Given the description of an element on the screen output the (x, y) to click on. 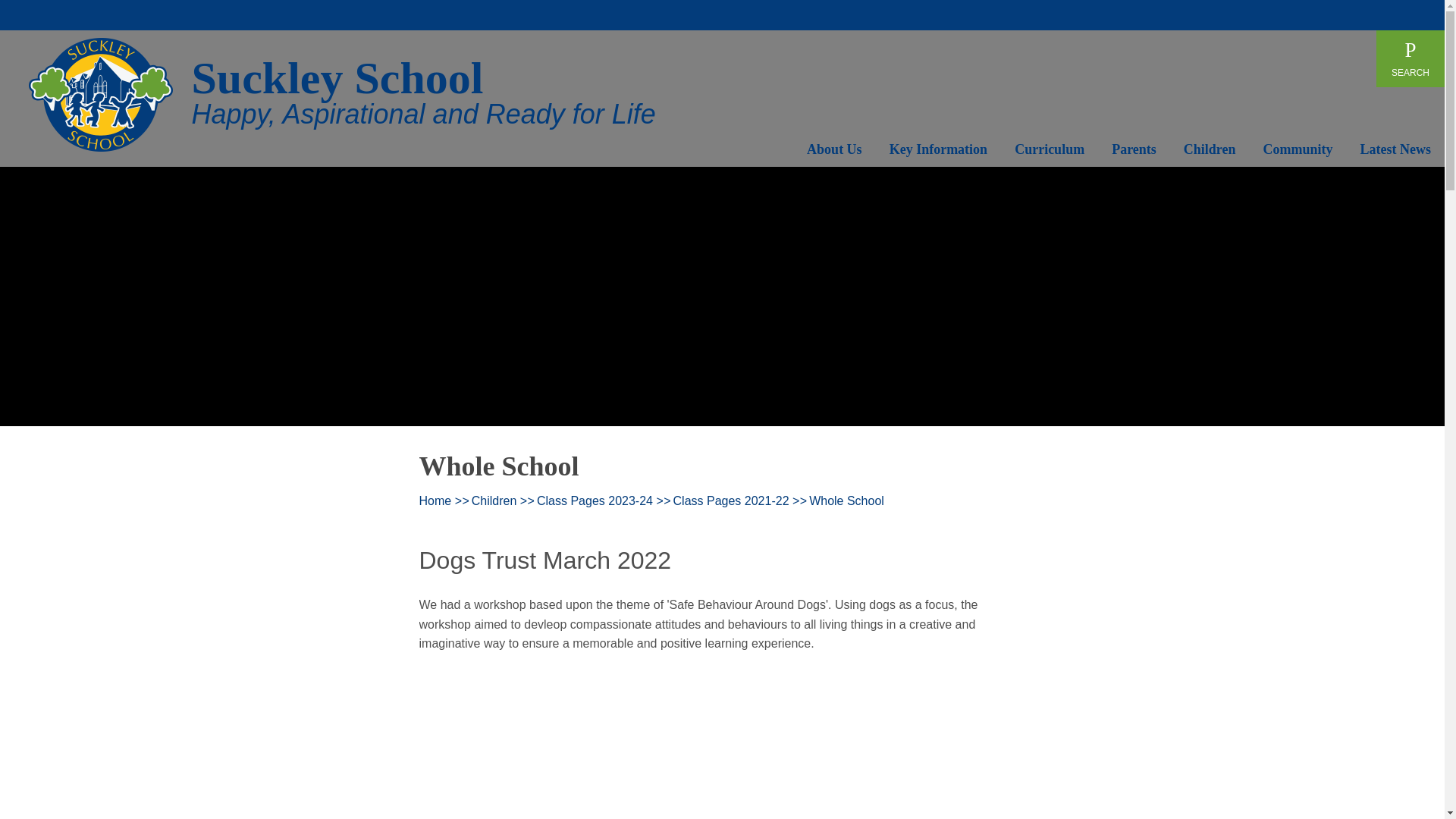
Curriculum (1049, 152)
Key Information (938, 152)
About Us (833, 152)
Home Page (101, 94)
